Given the description of an element on the screen output the (x, y) to click on. 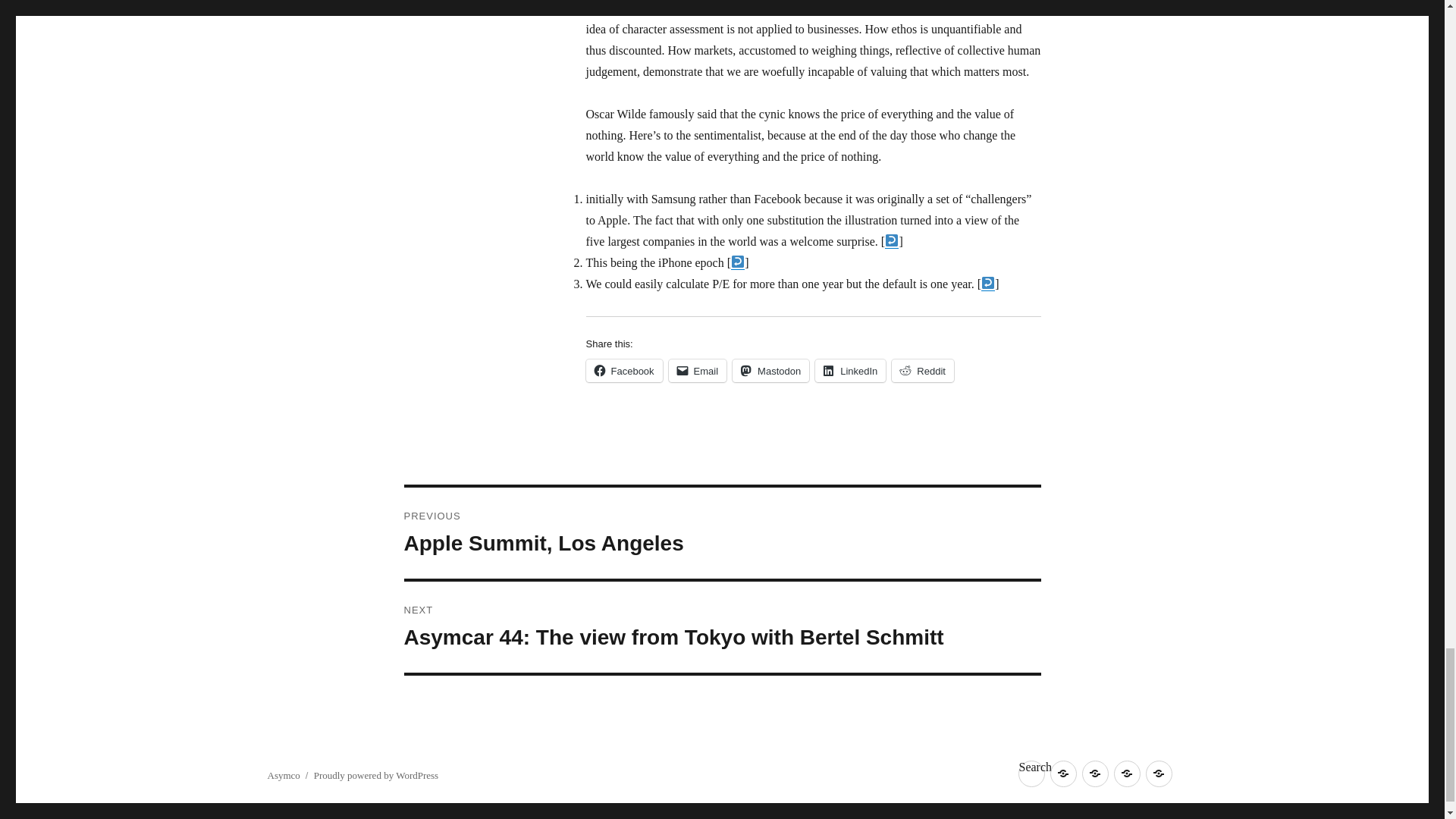
Mastodon (770, 370)
Search (1030, 773)
LinkedIn (850, 370)
Click to share on Facebook (623, 370)
Click to share on LinkedIn (850, 370)
Facebook (623, 370)
Click to share on Mastodon (770, 370)
Click to share on Reddit (922, 370)
Email (722, 532)
Reddit (697, 370)
Click to email a link to a friend (922, 370)
